Given the description of an element on the screen output the (x, y) to click on. 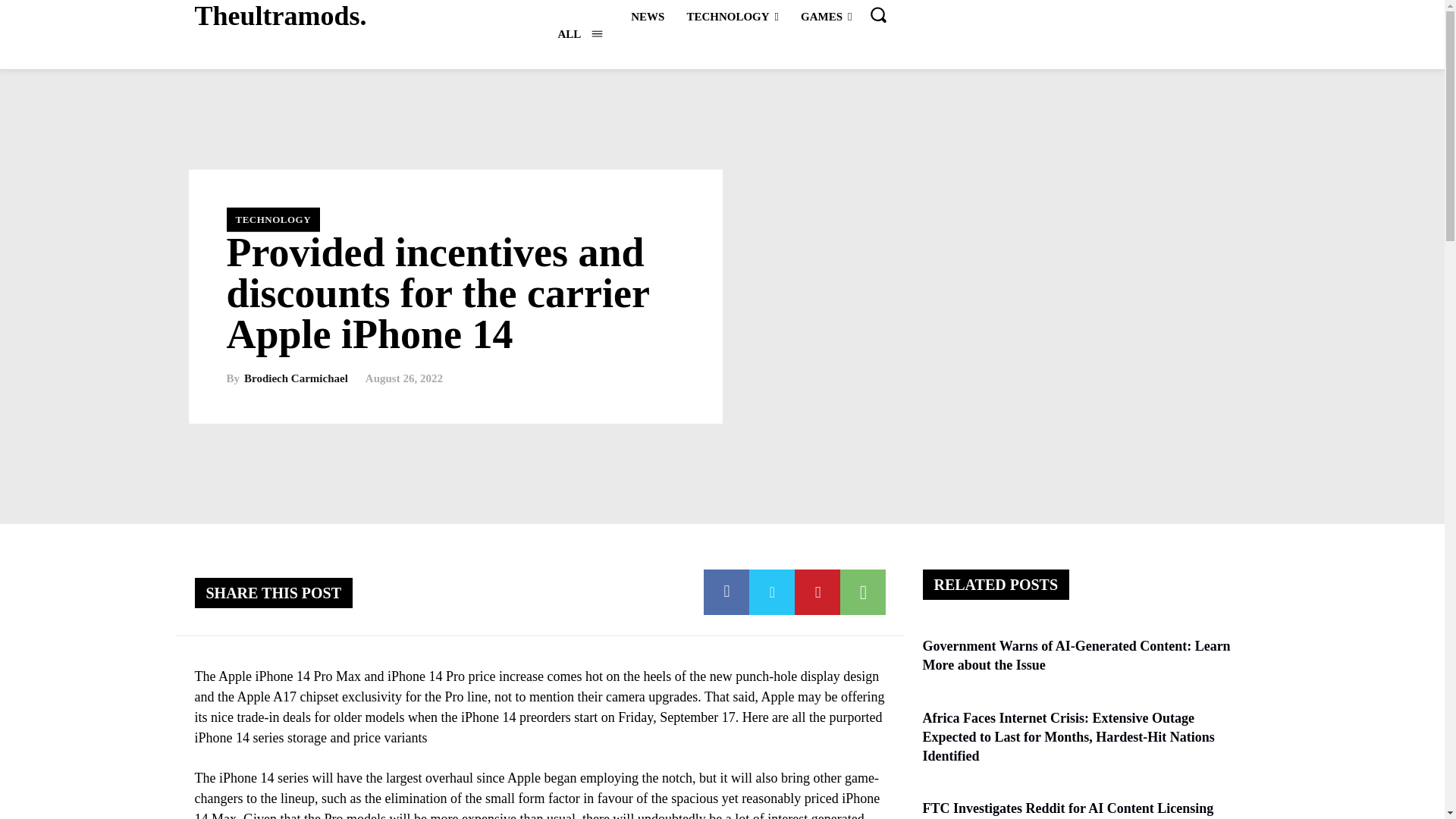
All (579, 33)
